Given the description of an element on the screen output the (x, y) to click on. 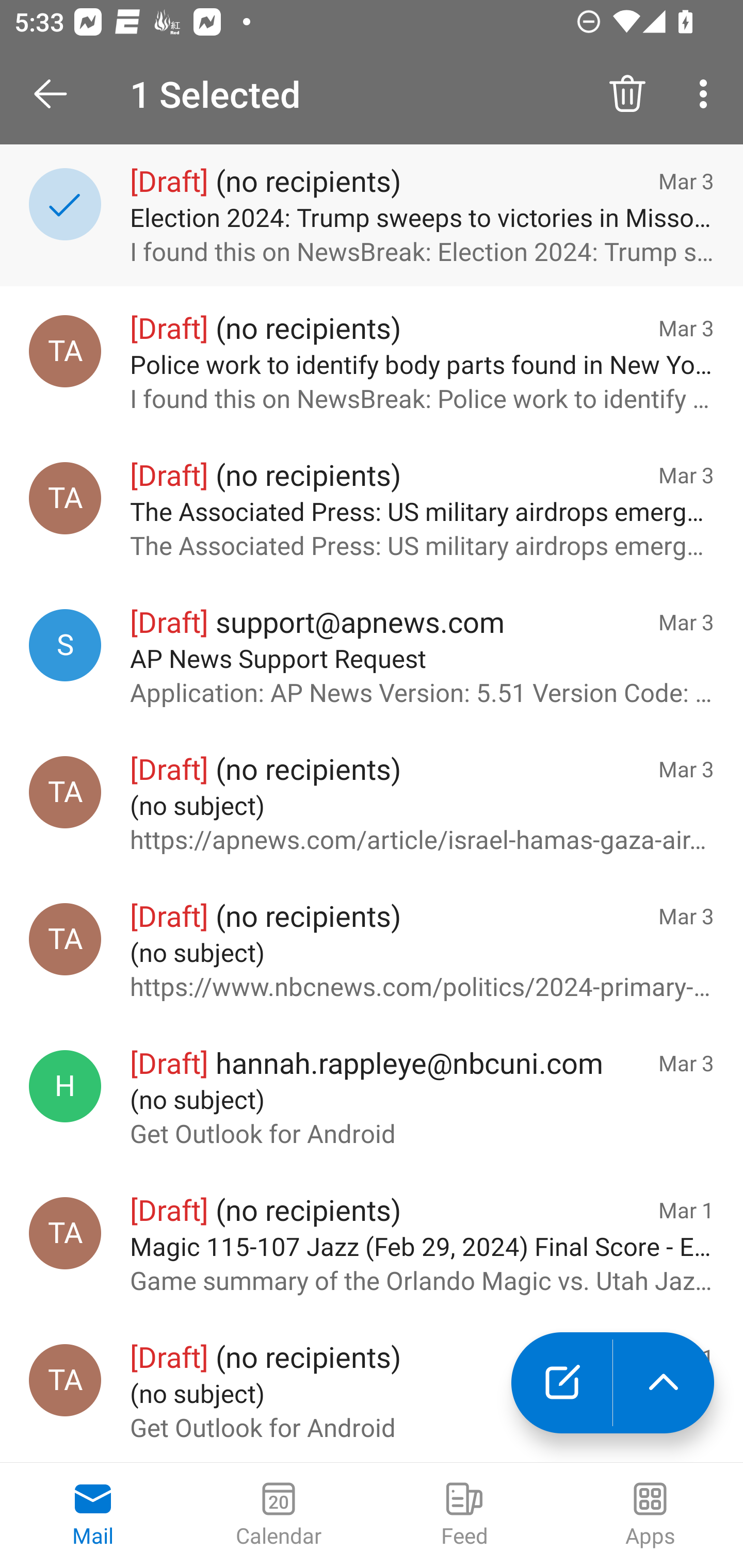
Delete (626, 93)
More options (706, 93)
Open Navigation Drawer (57, 94)
Test Appium, testappium002@outlook.com (64, 351)
Test Appium, testappium002@outlook.com (64, 498)
support@apnews.com (64, 645)
Test Appium, testappium002@outlook.com (64, 791)
Test Appium, testappium002@outlook.com (64, 939)
hannah.rappleye@nbcuni.com (64, 1086)
Test Appium, testappium002@outlook.com (64, 1233)
New mail (561, 1382)
launch the extended action menu (663, 1382)
Test Appium, testappium002@outlook.com (64, 1379)
Calendar (278, 1515)
Feed (464, 1515)
Apps (650, 1515)
